Given the description of an element on the screen output the (x, y) to click on. 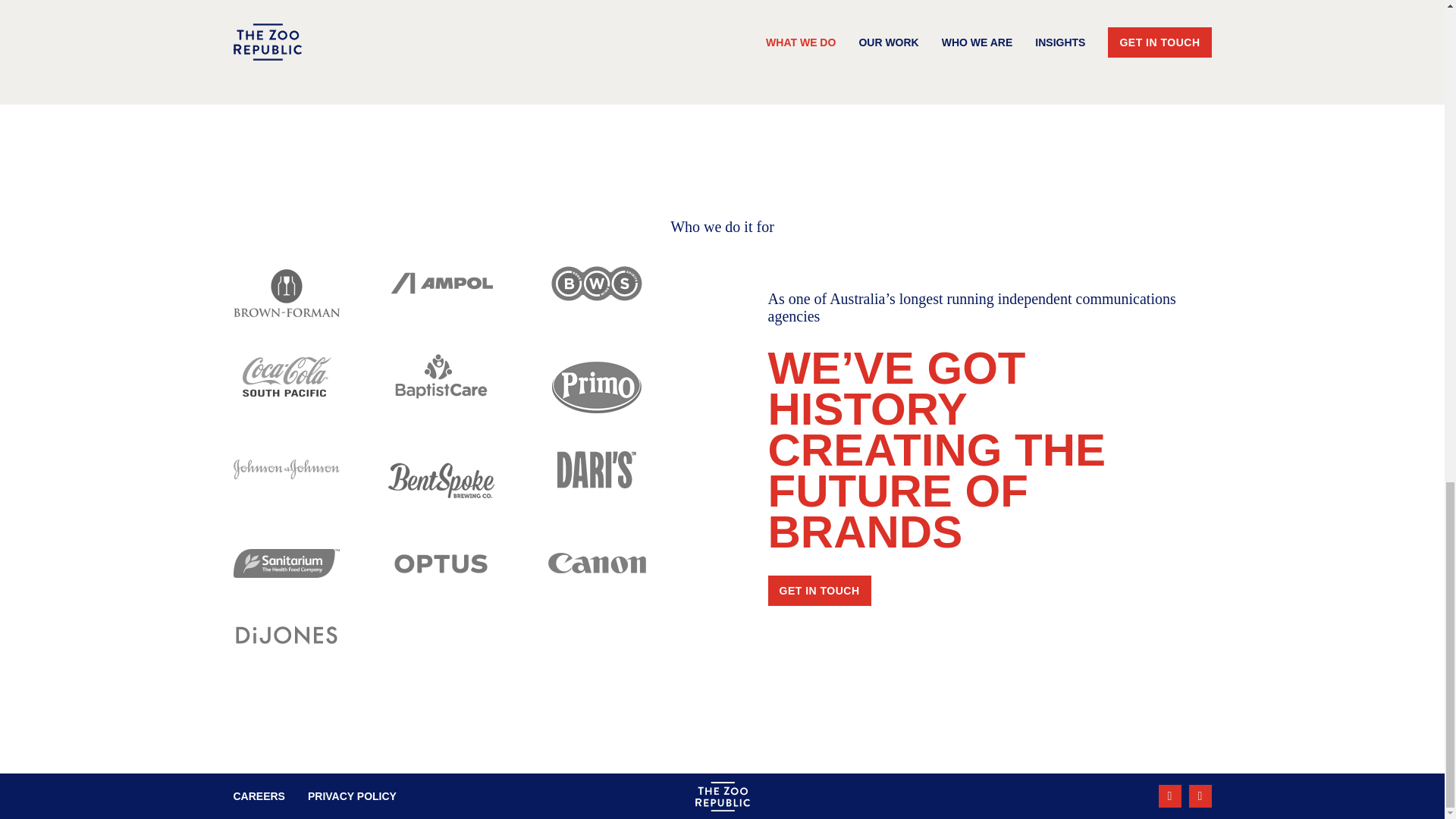
CAREERS (258, 796)
PRIVACY POLICY (351, 796)
GET IN TOUCH (818, 590)
